Given the description of an element on the screen output the (x, y) to click on. 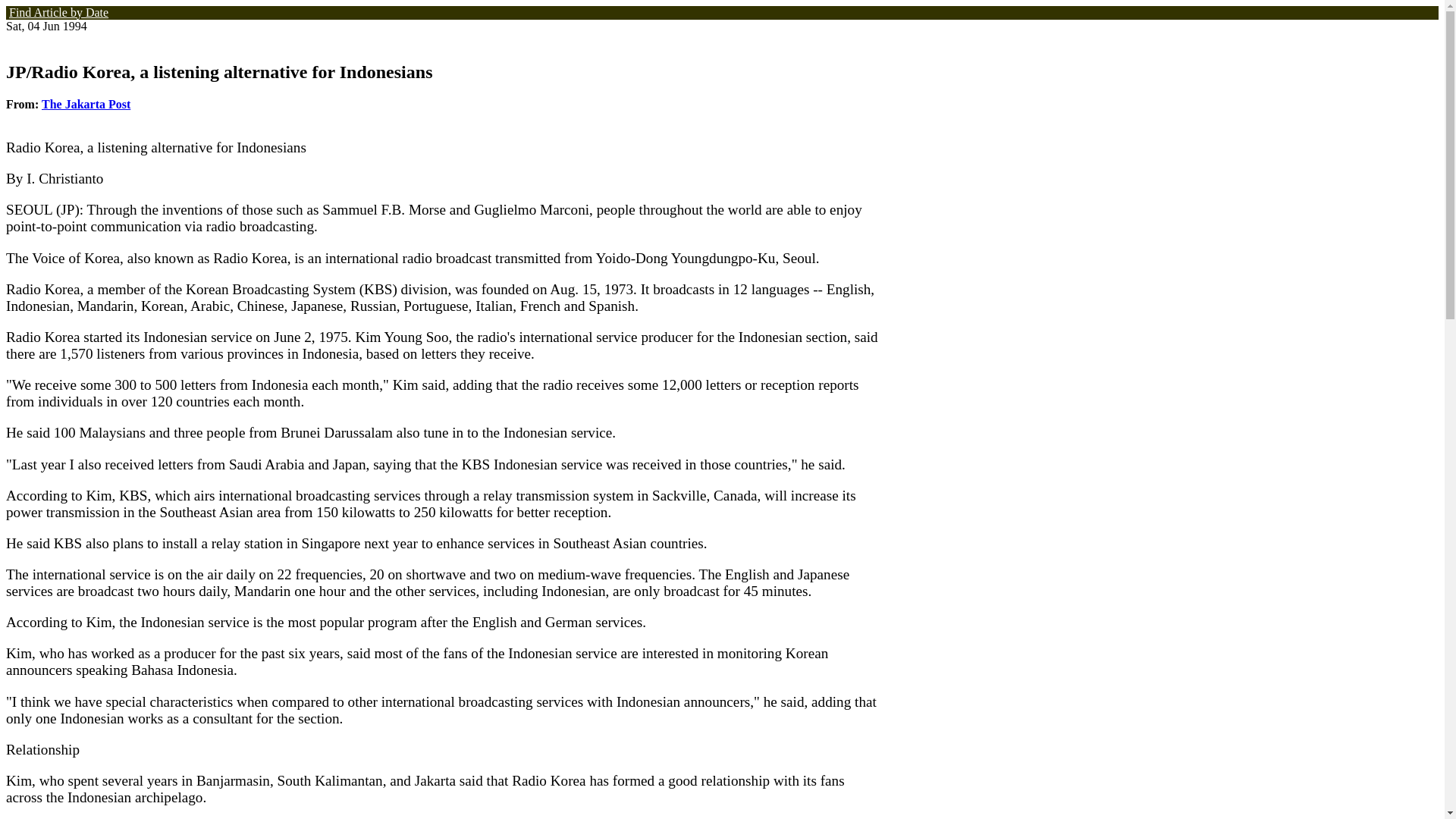
Find Article by Date (57, 9)
The Jakarta Post (86, 103)
